Given the description of an element on the screen output the (x, y) to click on. 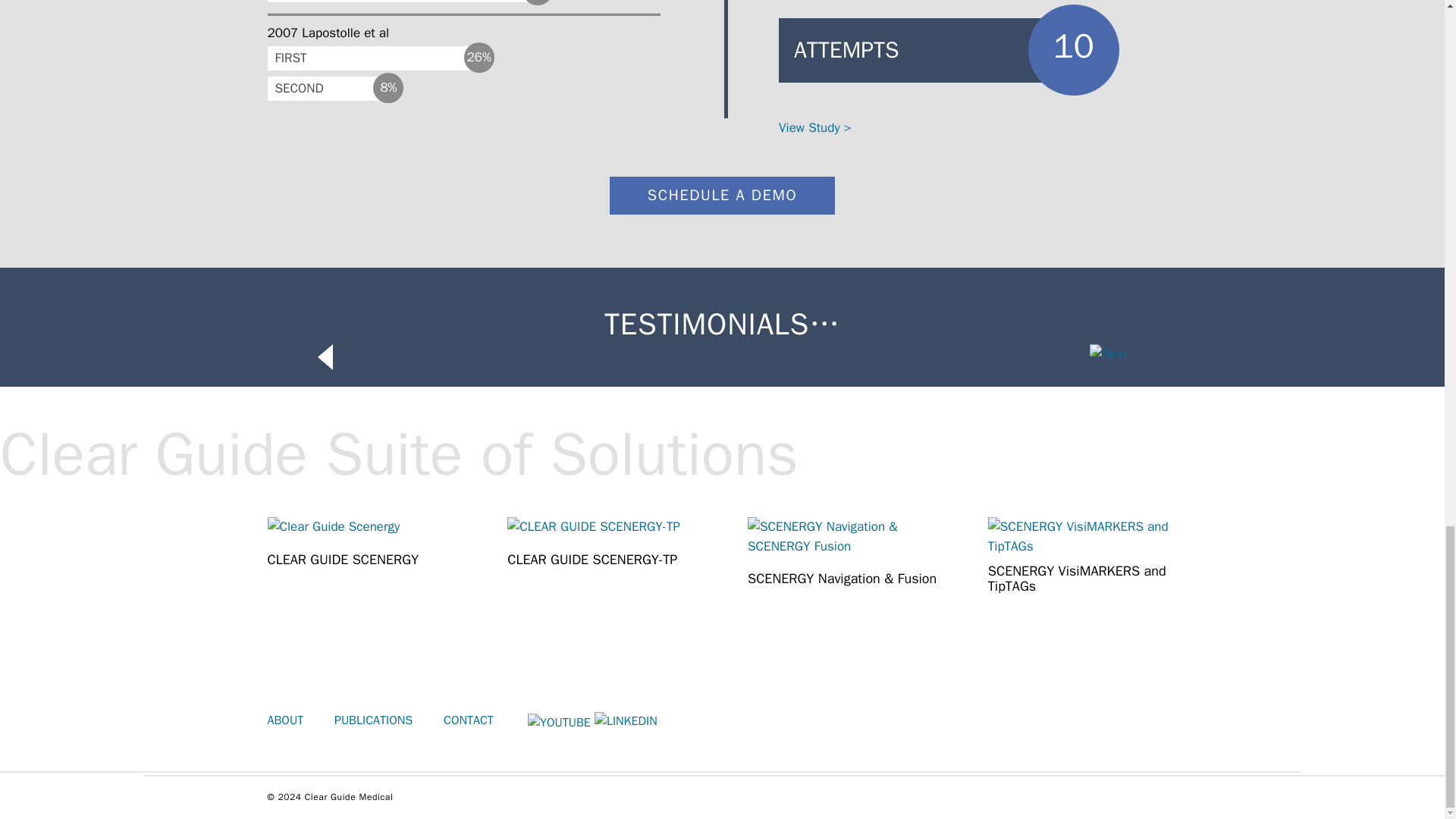
SCHEDULE A DEMO (722, 195)
ABOUT (284, 720)
PUBLICATIONS (373, 720)
CONTACT (468, 720)
SCHEDULE A DEMO (722, 195)
